Given the description of an element on the screen output the (x, y) to click on. 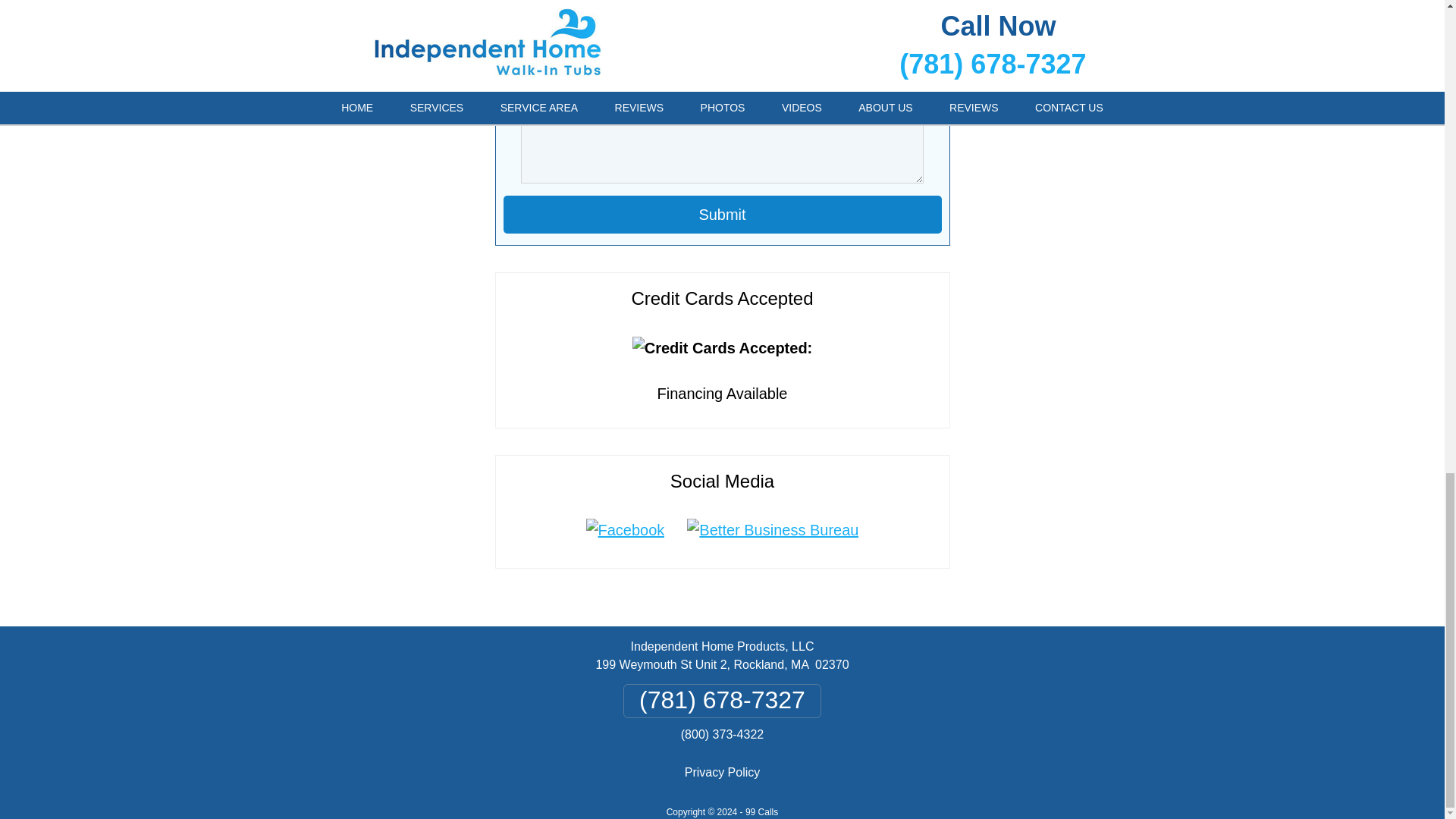
Submit (722, 214)
Facebook (626, 529)
Better Business Bureau (772, 529)
